Given the description of an element on the screen output the (x, y) to click on. 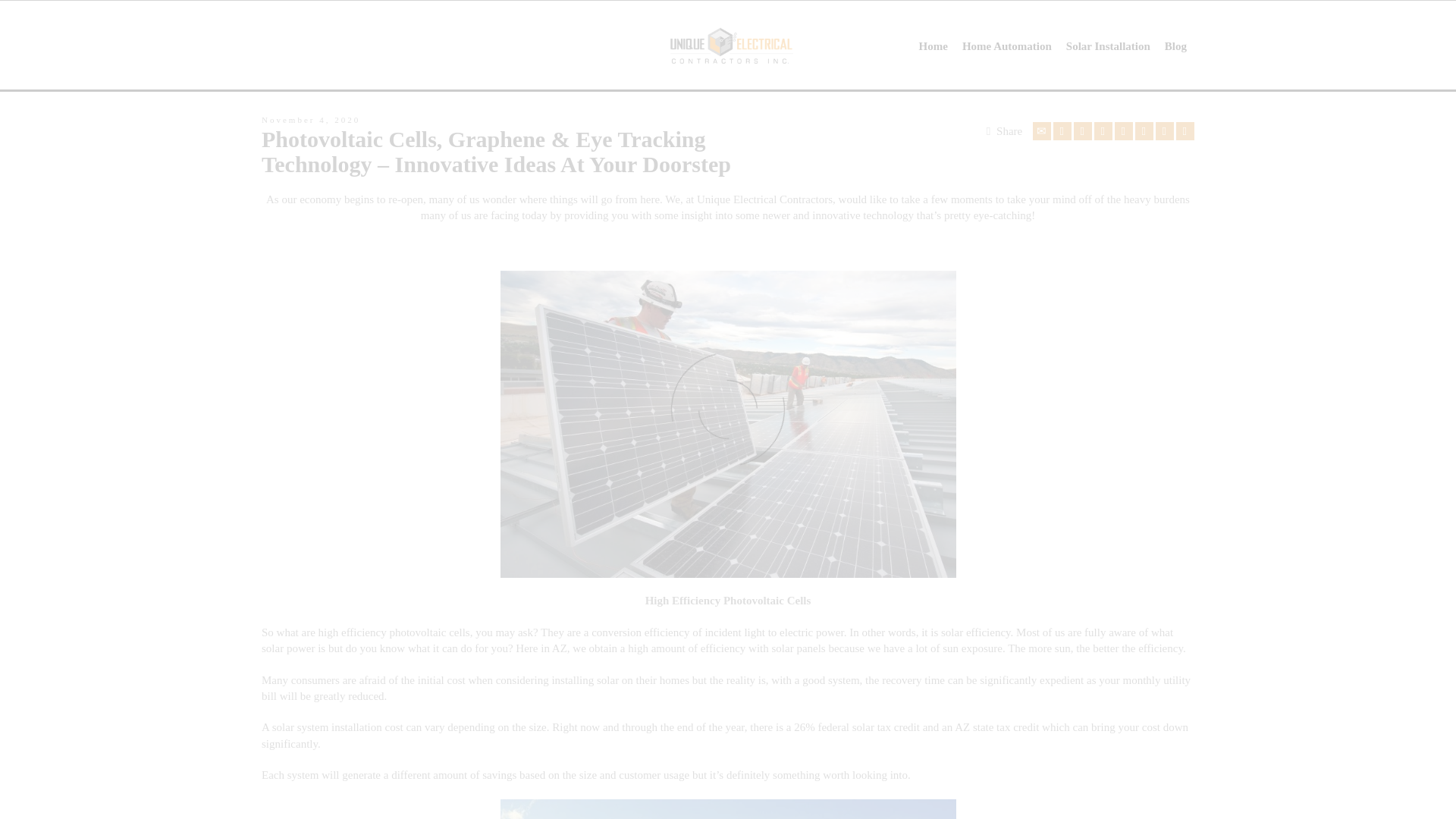
Facebook (1083, 131)
Linkedin (1164, 131)
Solar Installation (1108, 45)
Pinterest (1123, 131)
Tumblr (1144, 131)
Twitter (1061, 131)
Email (1041, 131)
Unique Electrical Contractors (727, 44)
Home Automation (1007, 45)
Vkontakte (1184, 131)
